Given the description of an element on the screen output the (x, y) to click on. 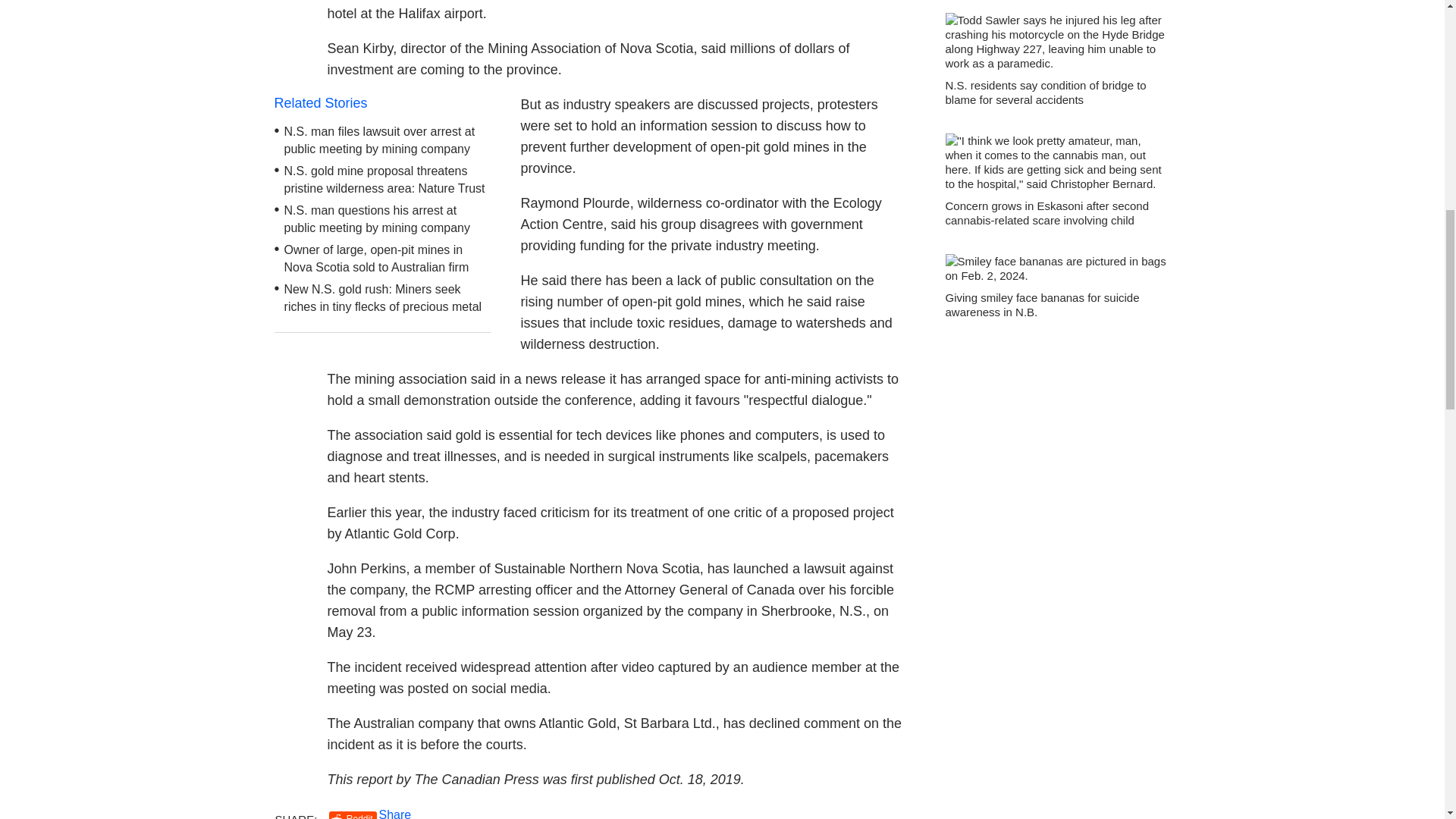
Share (395, 813)
Reddit (353, 815)
